Given the description of an element on the screen output the (x, y) to click on. 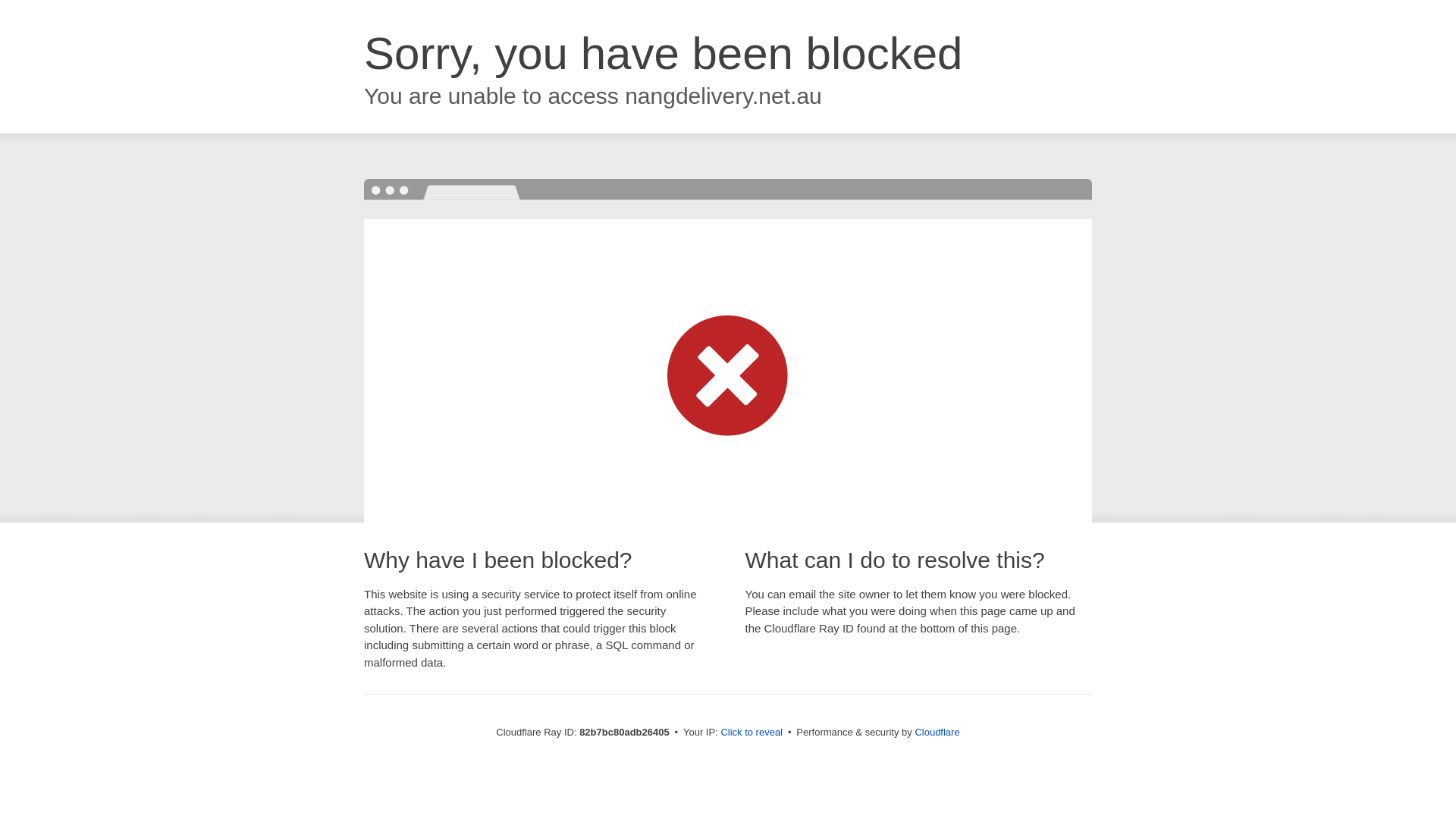
Cloudflare Element type: text (936, 731)
Click to reveal Element type: text (751, 732)
